Given the description of an element on the screen output the (x, y) to click on. 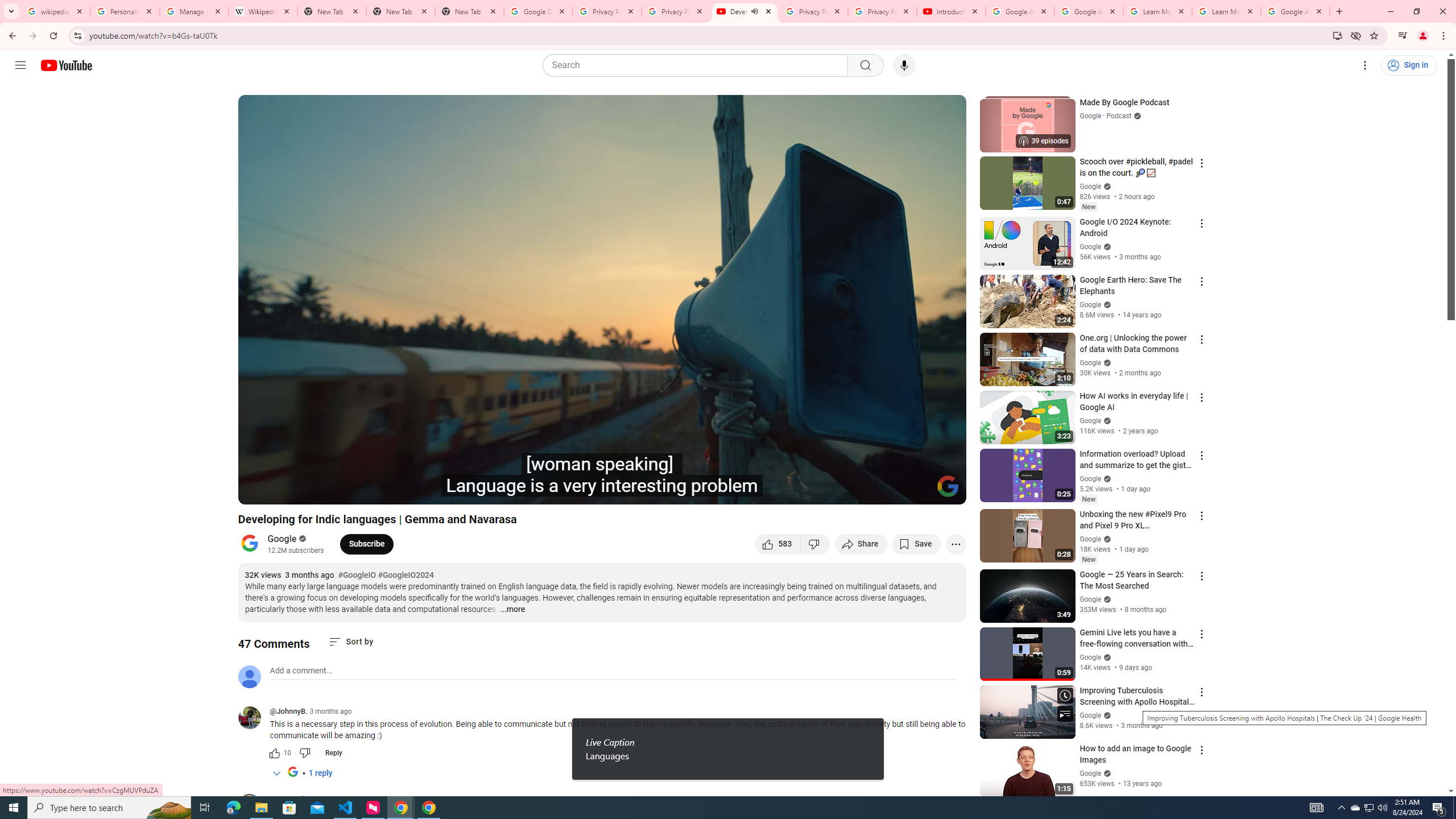
@JohnnyB. (288, 711)
Search with your voice (903, 65)
Default profile photo (248, 676)
Miniplayer (i) (890, 490)
New (1087, 559)
...more (512, 609)
Introduction | Google Privacy Policy - YouTube (950, 11)
